Given the description of an element on the screen output the (x, y) to click on. 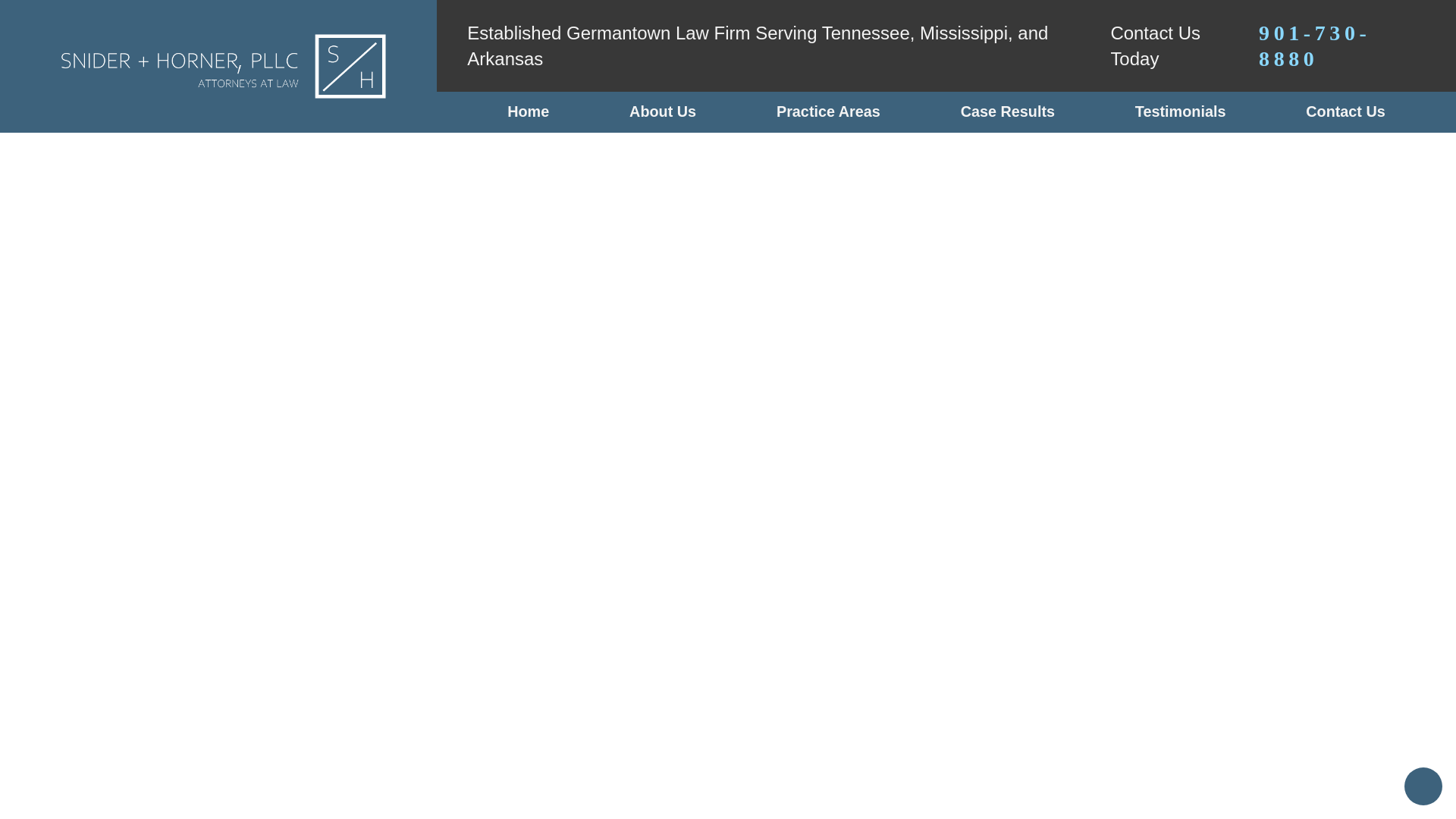
Case Results (1007, 111)
Testimonials (1179, 111)
901-730-8880 (1342, 45)
Home (528, 111)
About Us (662, 111)
Practice Areas (828, 111)
